Given the description of an element on the screen output the (x, y) to click on. 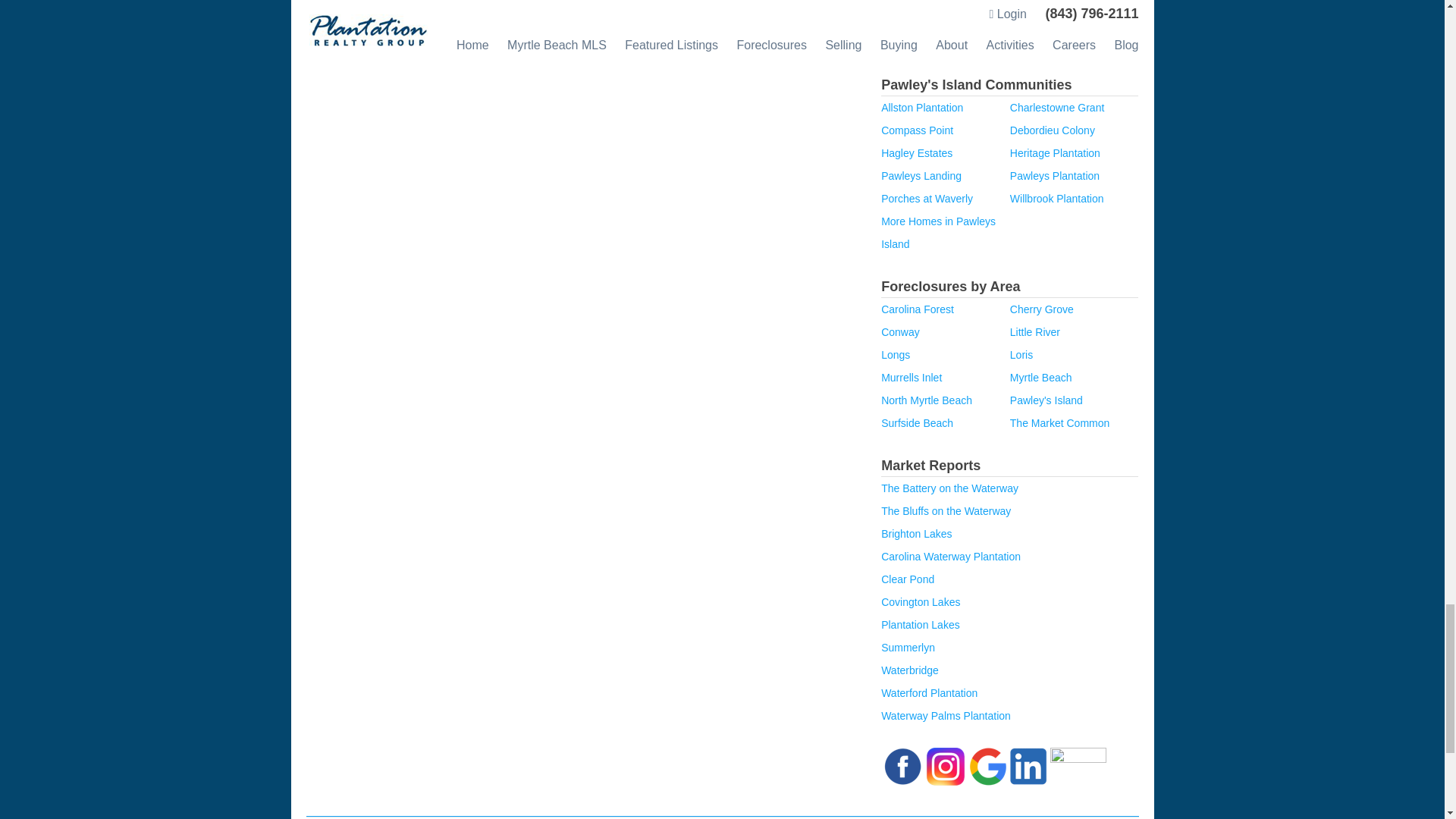
Plantation Realty Group Facebook (902, 765)
Plantation Realty Group Youtube (1077, 765)
Plantation Realty Group Google (987, 765)
Plantation Realty Group Linkedin (1027, 765)
Plantation Realty Group Instagram (945, 765)
